Given the description of an element on the screen output the (x, y) to click on. 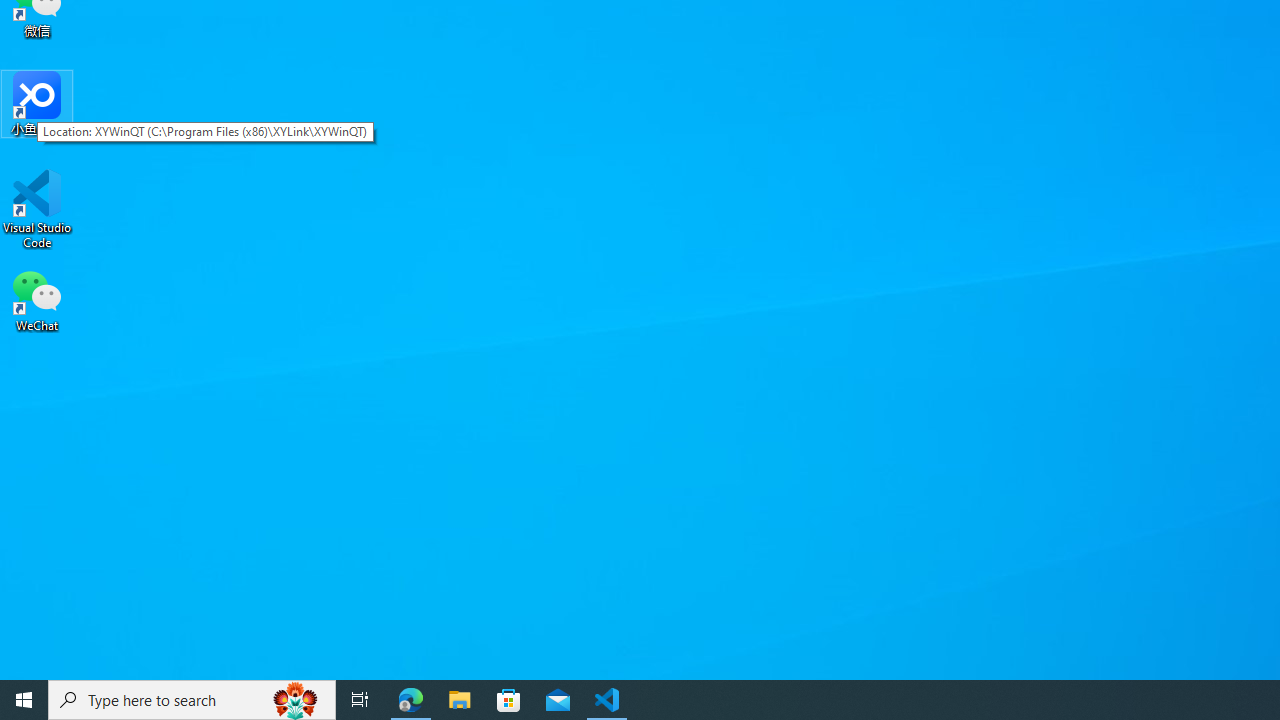
Microsoft Edge - 1 running window (411, 699)
WeChat (37, 299)
Task View (359, 699)
Start (24, 699)
Search highlights icon opens search home window (295, 699)
Type here to search (191, 699)
File Explorer (460, 699)
Visual Studio Code - 1 running window (607, 699)
Microsoft Store (509, 699)
Visual Studio Code (37, 209)
